Given the description of an element on the screen output the (x, y) to click on. 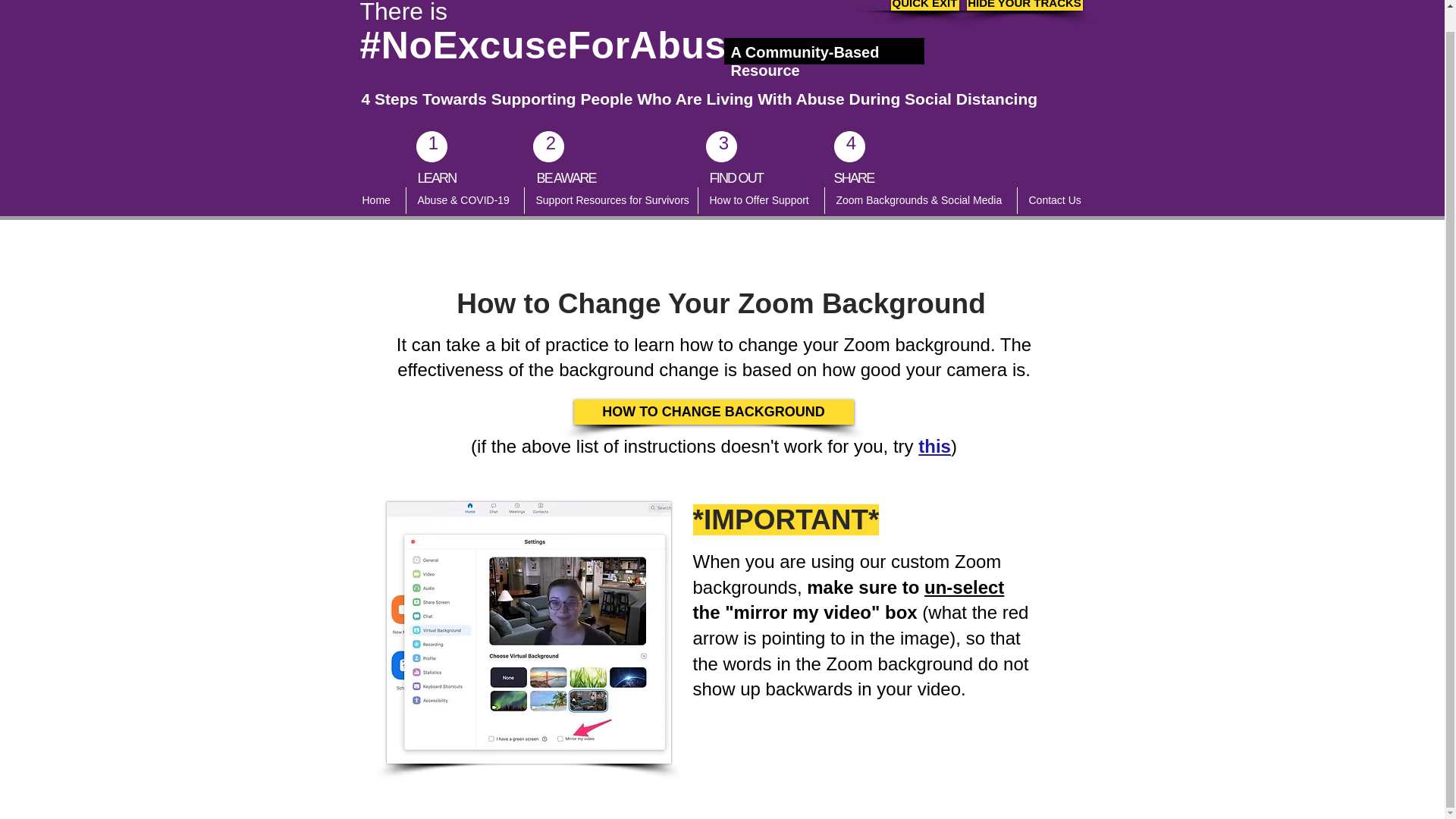
Support Resources for Survivors (610, 200)
this (934, 445)
HIDE YOUR TRACKS (1023, 5)
QUICK EXIT (923, 5)
Home (377, 200)
How to Offer Support (760, 200)
HOW TO CHANGE BACKGROUND (713, 412)
Contact Us (1055, 200)
